Given the description of an element on the screen output the (x, y) to click on. 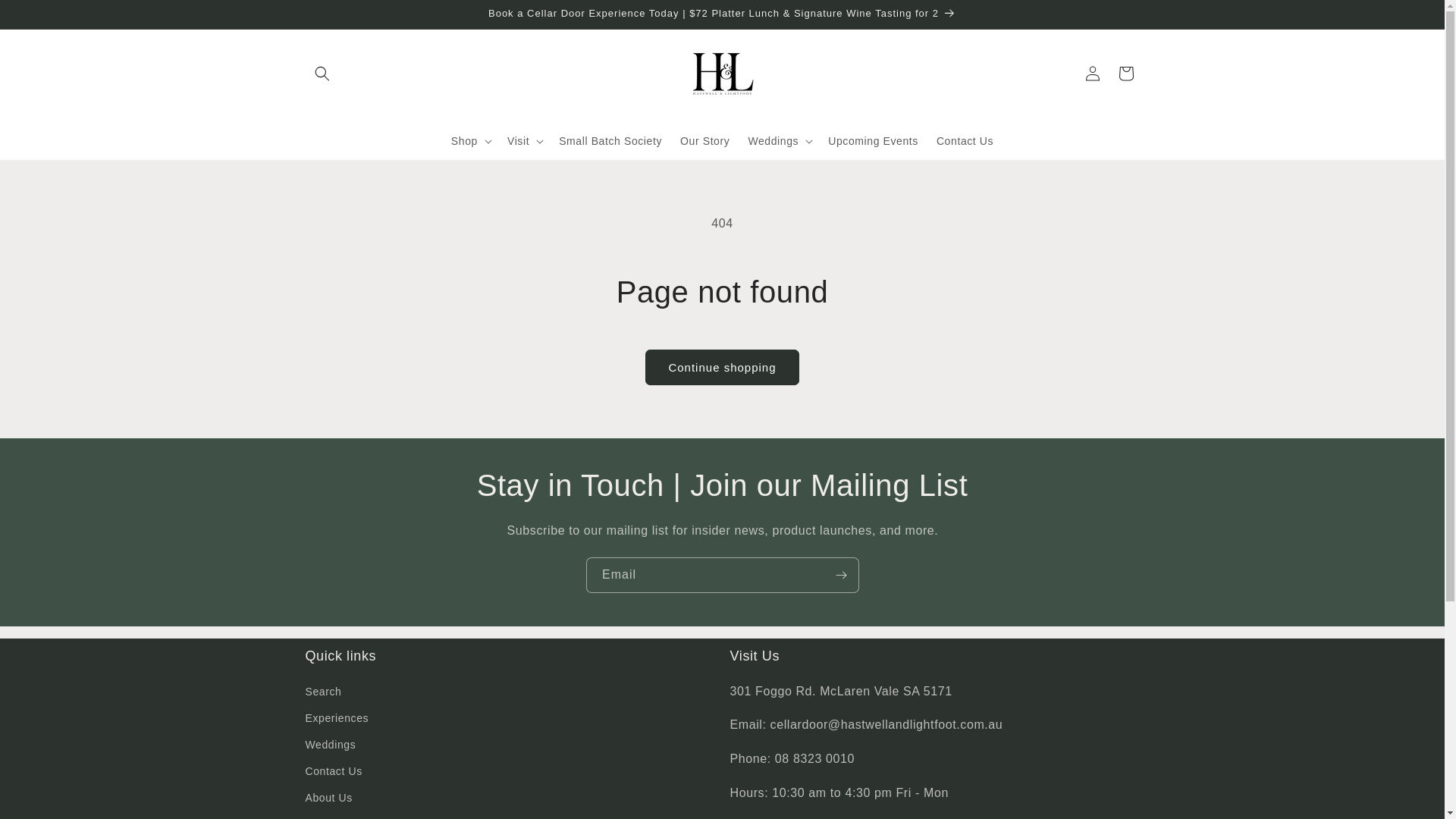
Cart Element type: text (1125, 72)
Log in Element type: text (1091, 72)
Our Story Element type: text (704, 140)
About Us Element type: text (327, 797)
Upcoming Events Element type: text (873, 140)
Experiences Element type: text (336, 718)
Continue shopping Element type: text (721, 367)
Small Batch Society Element type: text (610, 140)
Contact Us Element type: text (332, 771)
Search Element type: text (322, 693)
Contact Us Element type: text (964, 140)
Weddings Element type: text (329, 744)
